Given the description of an element on the screen output the (x, y) to click on. 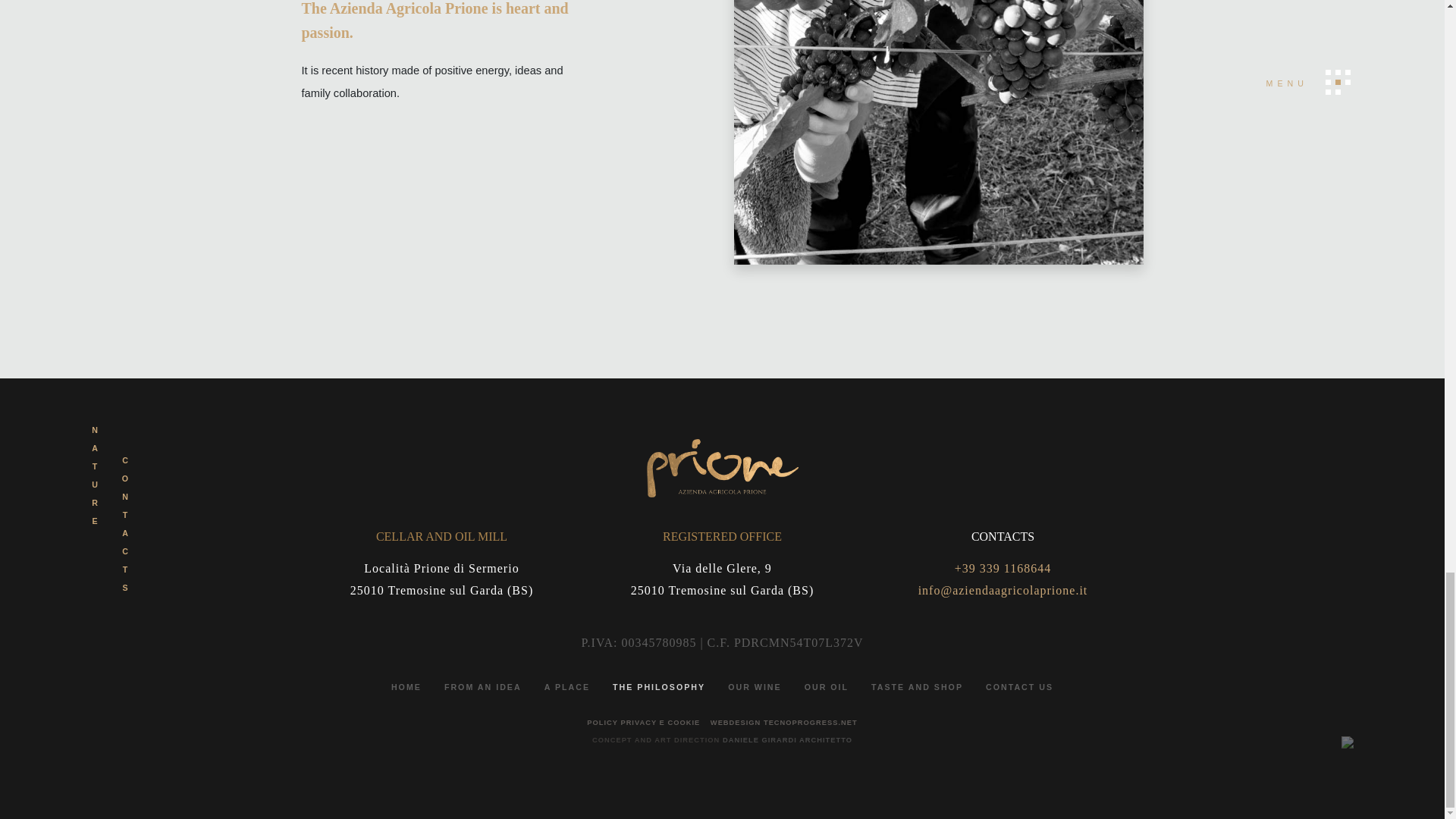
OUR WINE (754, 686)
TECNOPROGRESS.NET (809, 722)
FROM AN IDEA (482, 686)
A PLACE (566, 686)
HOME (406, 686)
OUR OIL (826, 686)
POLICY PRIVACY E COOKIE (643, 722)
CONTACT US (1019, 686)
TASTE AND SHOP (917, 686)
THE PHILOSOPHY (658, 686)
